Given the description of an element on the screen output the (x, y) to click on. 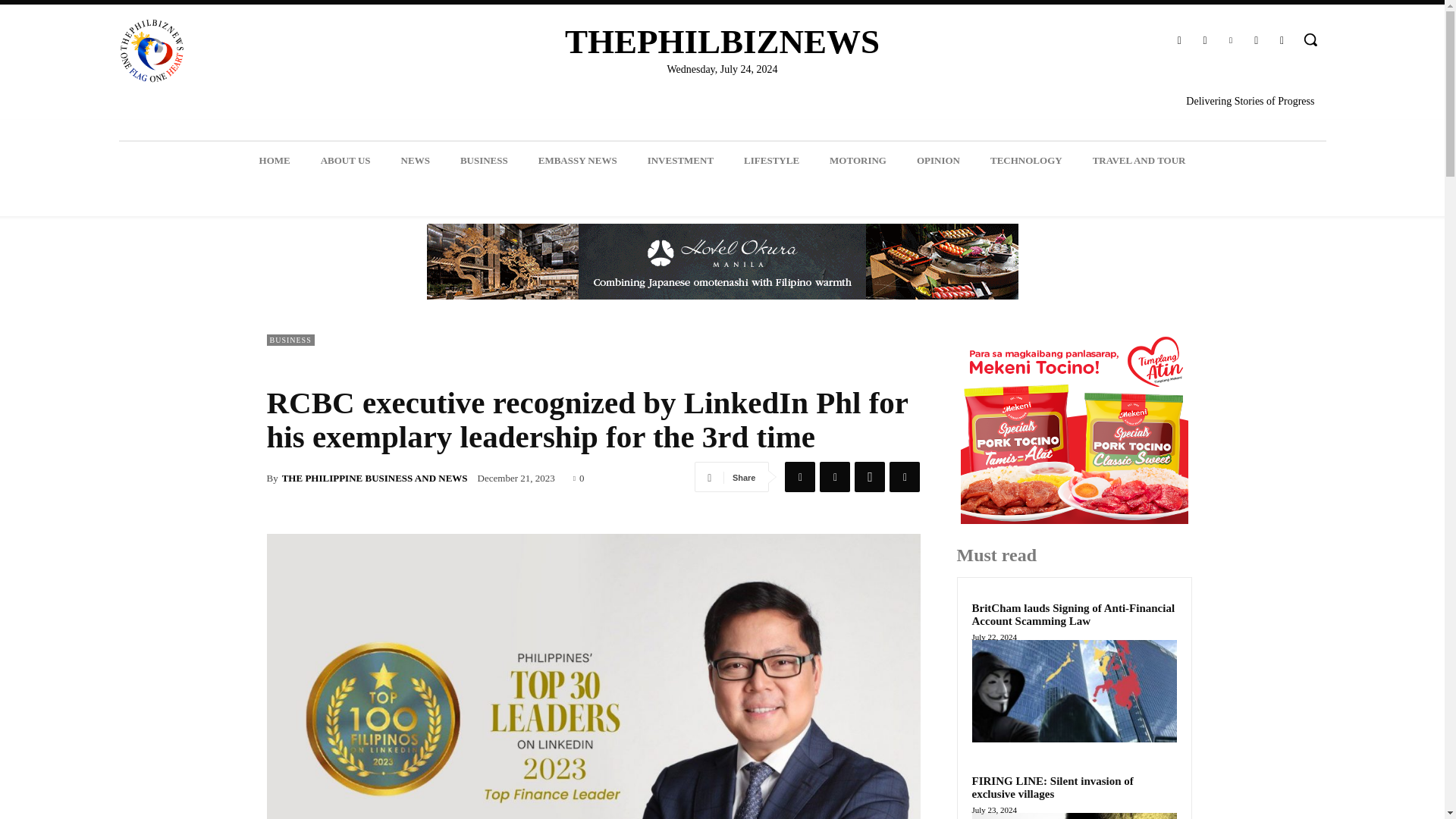
NEWS (415, 160)
Linkedin (1230, 40)
THEPHILBIZNEWS (721, 42)
Instagram (1204, 40)
ABOUT US (345, 160)
BUSINESS (483, 160)
EMBASSY NEWS (576, 160)
Youtube (1281, 40)
INVESTMENT (680, 160)
OPINION (938, 160)
WhatsApp (869, 476)
MOTORING (857, 160)
Twitter (834, 476)
Facebook (1179, 40)
Facebook (799, 476)
